Given the description of an element on the screen output the (x, y) to click on. 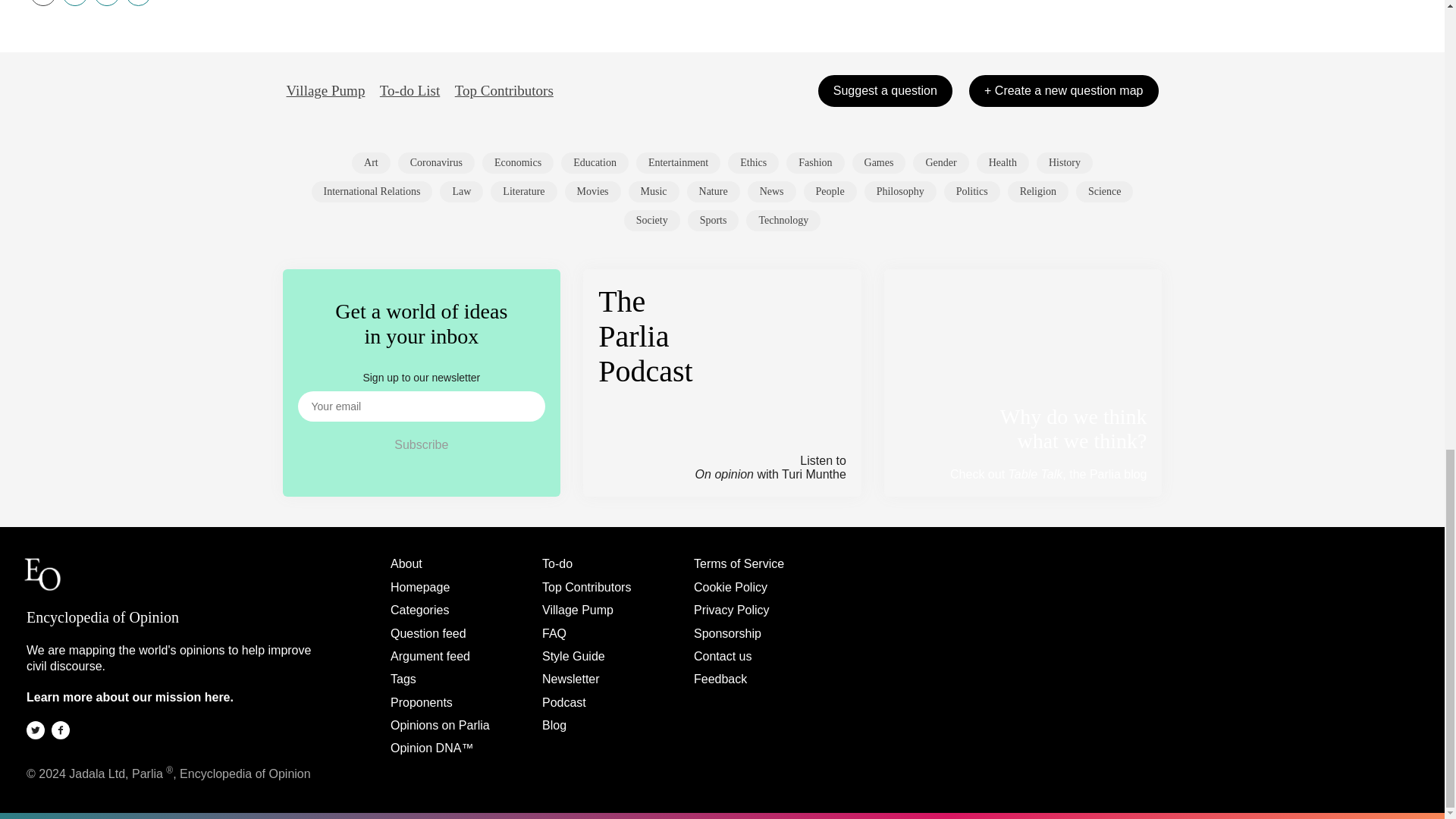
Category item (753, 162)
Village Pump (325, 90)
Category item (678, 162)
To-do List (409, 90)
Category item (1002, 162)
Category item (878, 162)
Category item (594, 162)
Category item (435, 162)
Category item (653, 191)
Category item (371, 162)
Category item (815, 162)
Category item (1064, 162)
Category item (371, 191)
Category item (592, 191)
Suggest a question (885, 91)
